Given the description of an element on the screen output the (x, y) to click on. 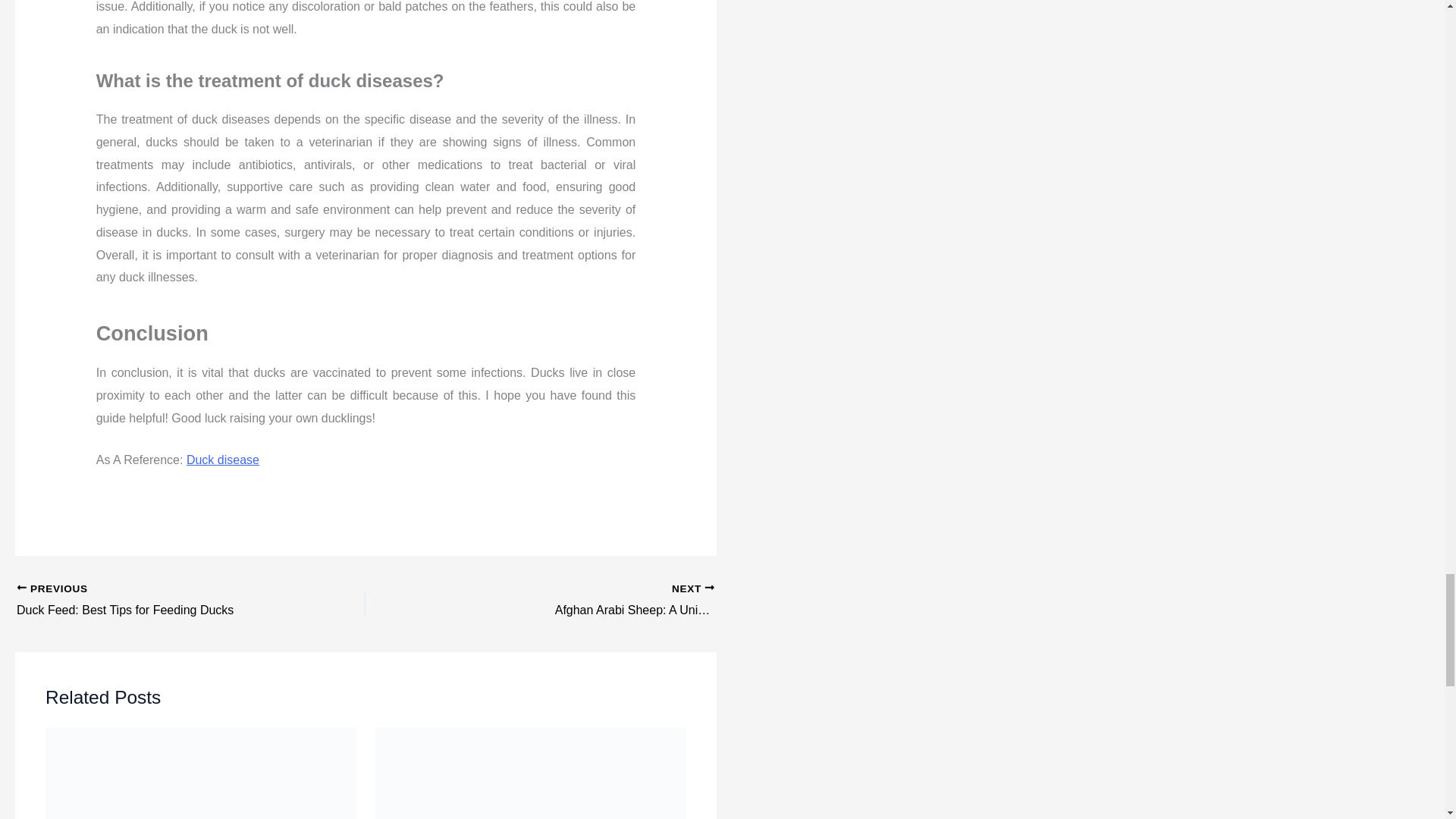
Duck Feed: Best Tips for Feeding Ducks (156, 600)
Afghan Arabi Sheep: A Unique Breed of Sheep (627, 600)
